Given the description of an element on the screen output the (x, y) to click on. 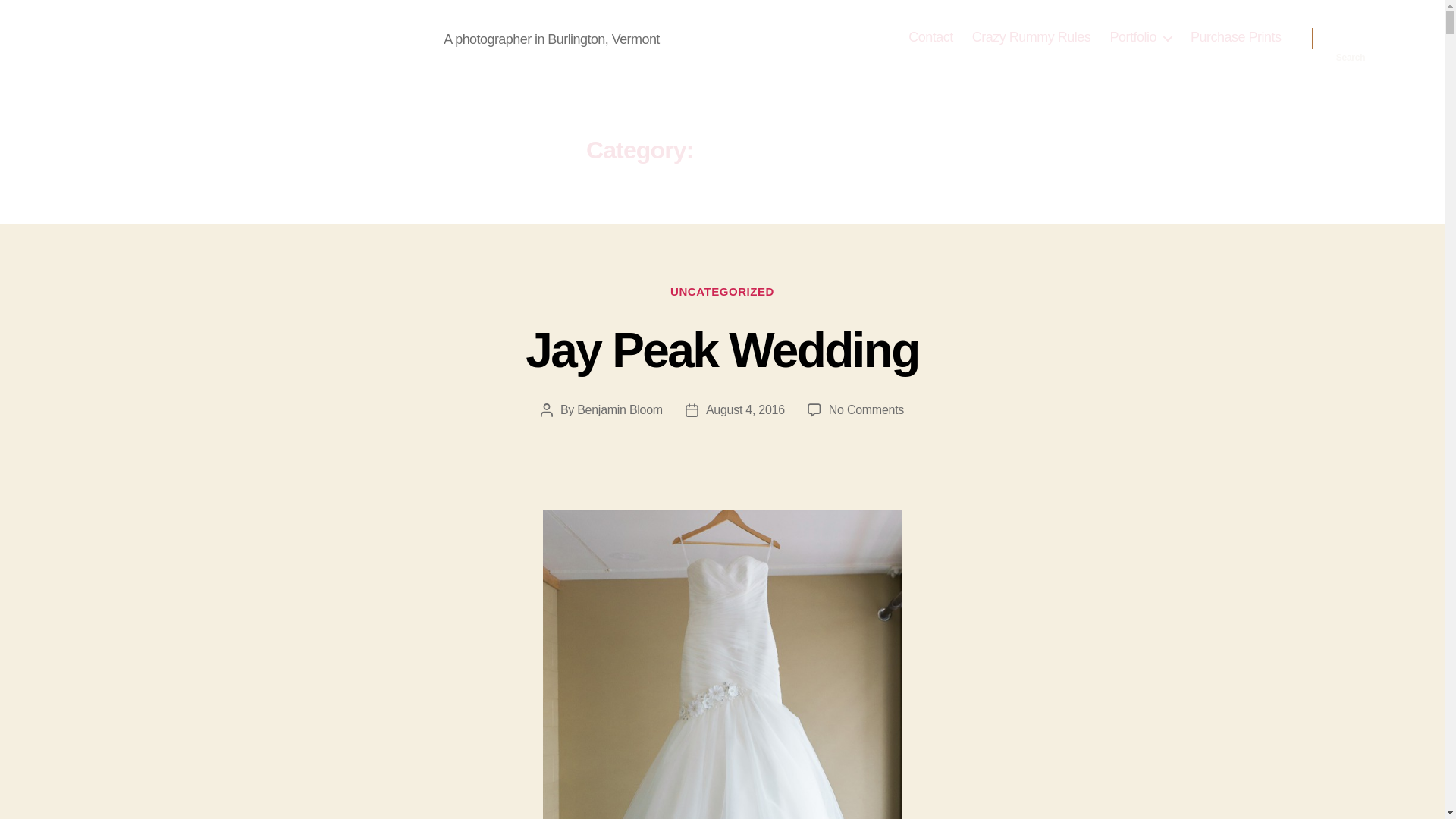
Vermont Photographer Benjamin D. Bloom (866, 409)
Crazy Rummy Rules (254, 37)
Purchase Prints (1031, 37)
August 4, 2016 (1236, 37)
UNCATEGORIZED (745, 409)
Contact (721, 292)
Benjamin Bloom (930, 37)
Search (619, 409)
Portfolio (1350, 37)
Jay Peak Wedding (1140, 37)
